Given the description of an element on the screen output the (x, y) to click on. 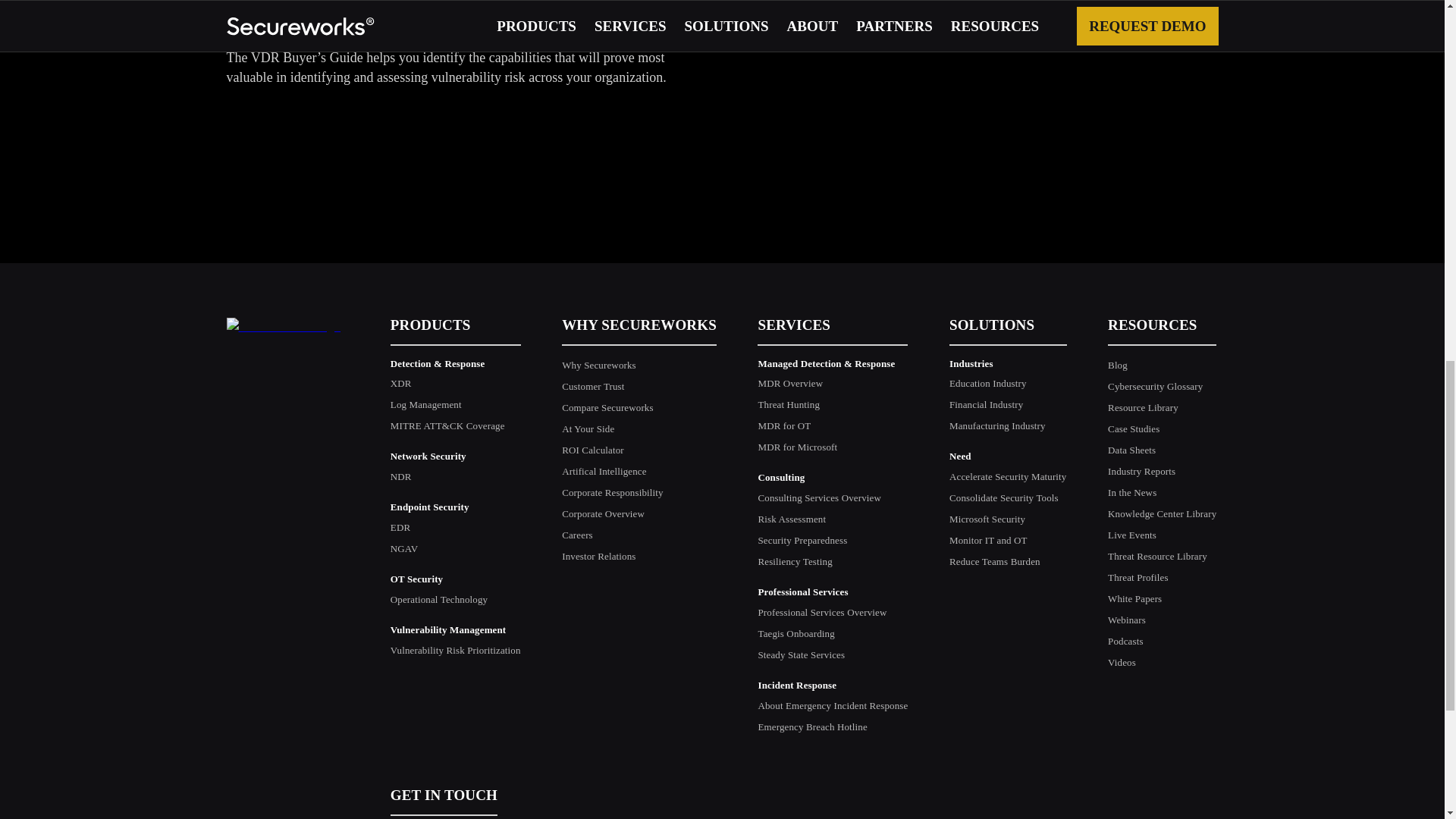
NGAV (403, 548)
Customer Trust (593, 386)
Investor Relations (598, 555)
Secureworks, Inc. (282, 325)
Corporate Overview (603, 513)
Corporate Responsibility (612, 491)
Why Secureworks (599, 365)
Careers (577, 534)
Artifical Intelligence (604, 471)
Compare Secureworks (607, 407)
